Given the description of an element on the screen output the (x, y) to click on. 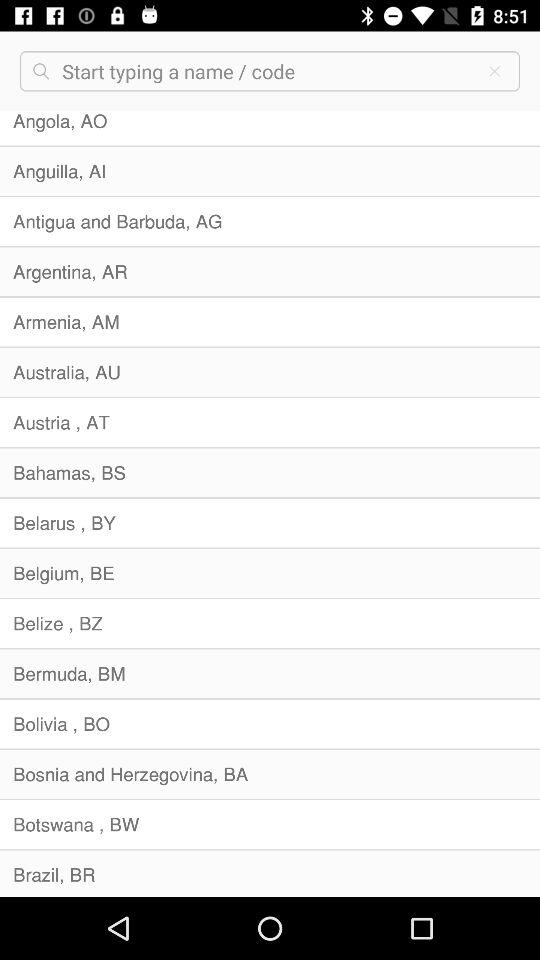
click on the cancel button (494, 70)
click on the search bar at the top of the page (265, 71)
